Given the description of an element on the screen output the (x, y) to click on. 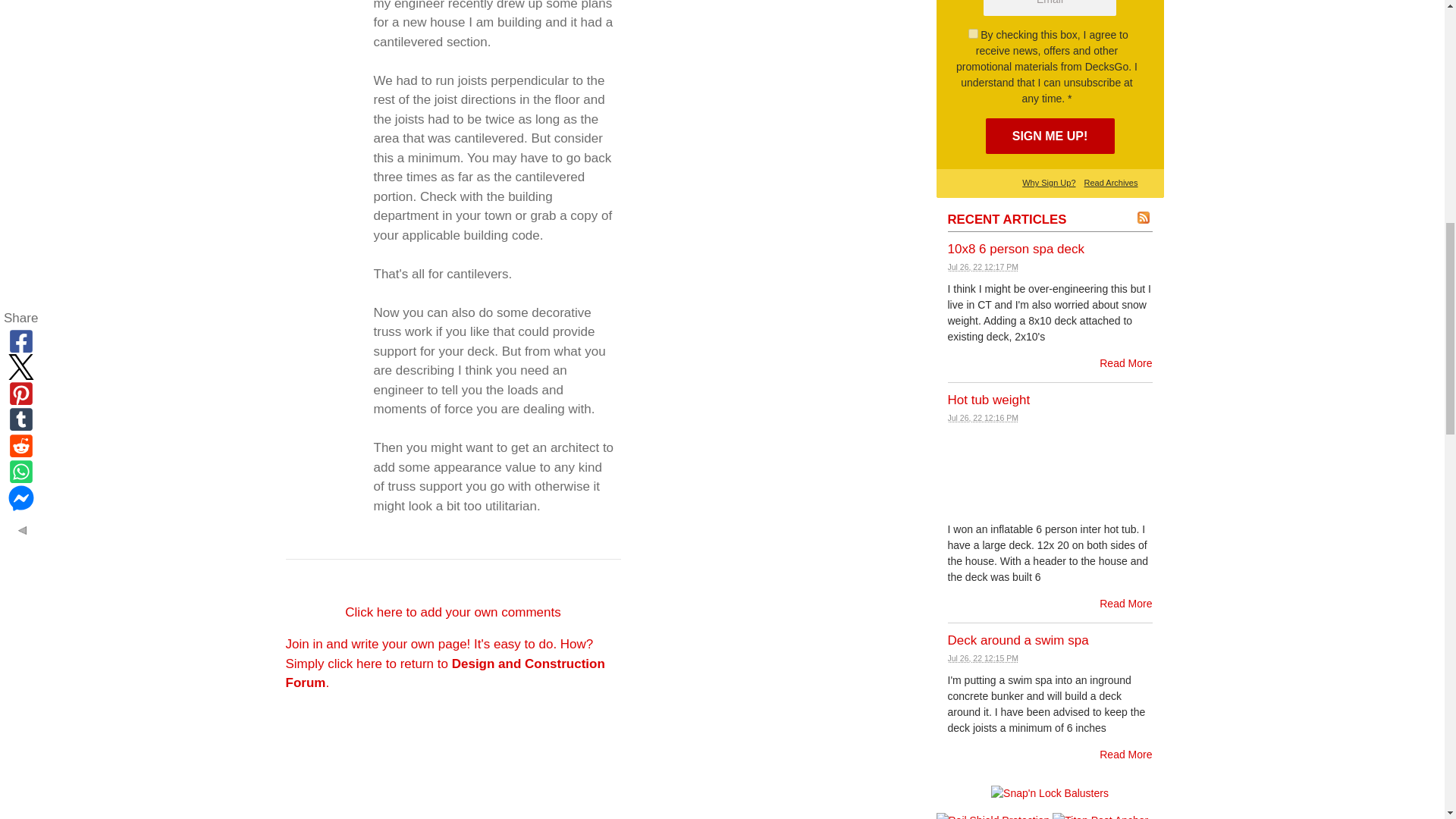
305 (973, 33)
Email (1050, 7)
Archives (1111, 182)
2022-07-26T12:17:56-0400 (982, 266)
Why Sign Up (1048, 182)
Snap'n Lock Balusters (1049, 793)
2022-07-26T12:16:25-0400 (982, 417)
2022-07-26T12:15:14-0400 (982, 657)
